Given the description of an element on the screen output the (x, y) to click on. 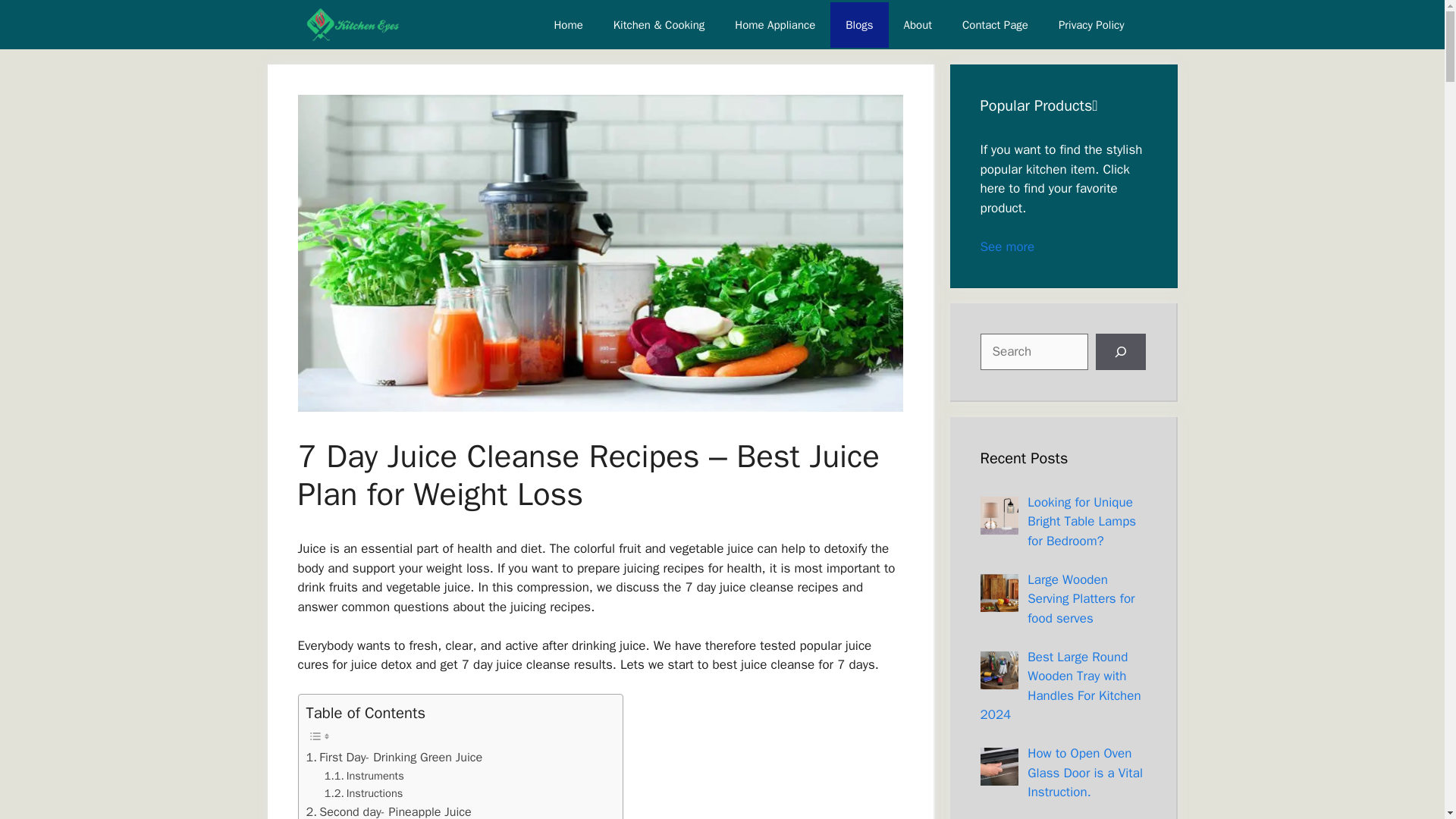
First Day- Drinking Green Juice (394, 757)
Instruments  (365, 775)
Instructions (363, 793)
Home Appliance (774, 23)
Blogs (858, 23)
Instructions (363, 793)
Home (567, 23)
Second day- Pineapple Juice  (390, 810)
Privacy Policy (1091, 23)
First Day- Drinking Green Juice (394, 757)
Kitchen Eyes (351, 24)
About (917, 23)
Contact Page (995, 23)
